Given the description of an element on the screen output the (x, y) to click on. 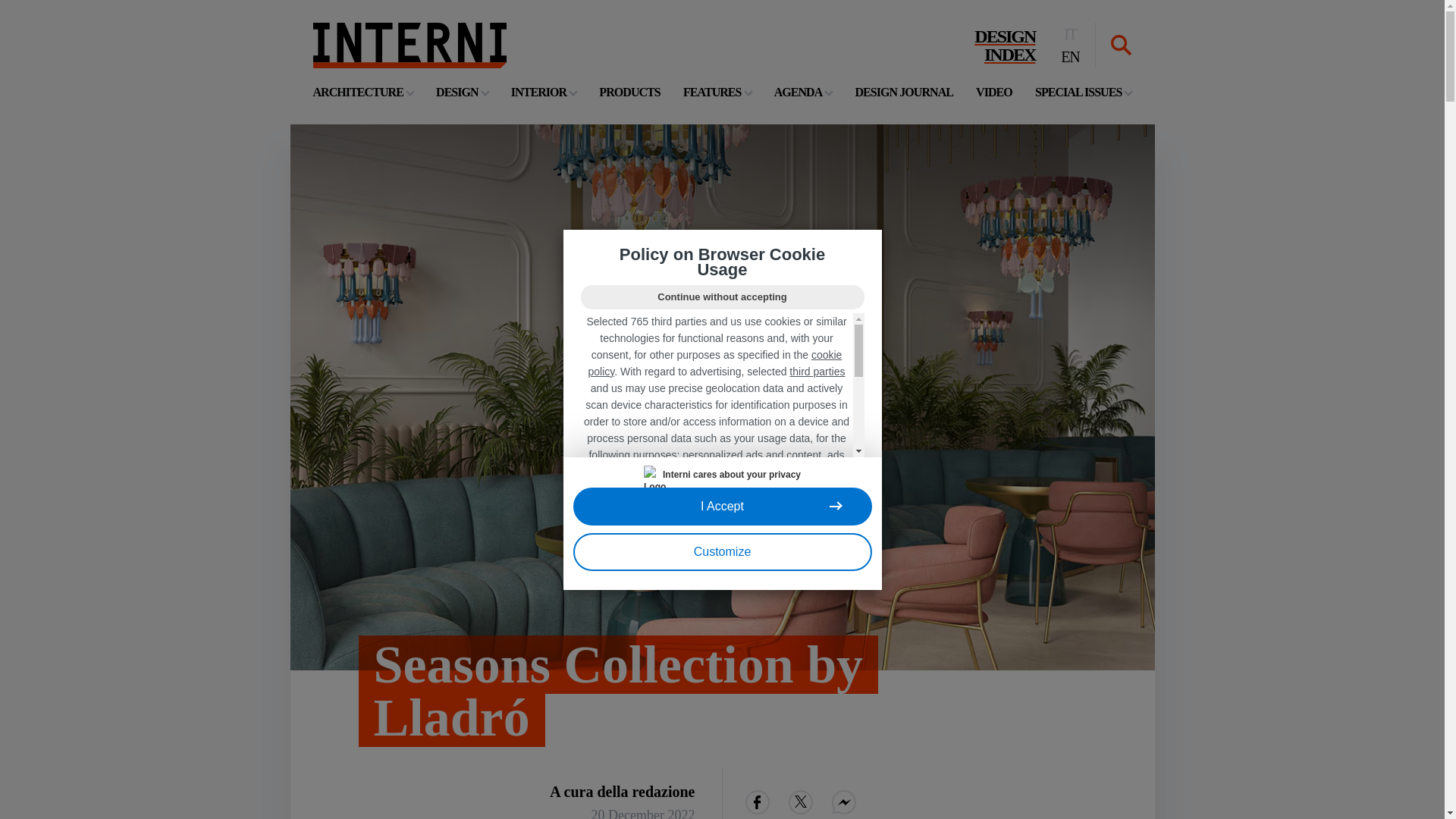
INTERIOR (543, 91)
FEATURES (1004, 45)
interni magazine (716, 91)
VIDEO (409, 44)
SPECIAL ISSUES (993, 91)
ARCHITECTURE (1083, 91)
AGENDA (362, 91)
DESIGN (803, 91)
PRODUCTS (461, 91)
interni magazine (629, 91)
DESIGN JOURNAL (409, 44)
